Given the description of an element on the screen output the (x, y) to click on. 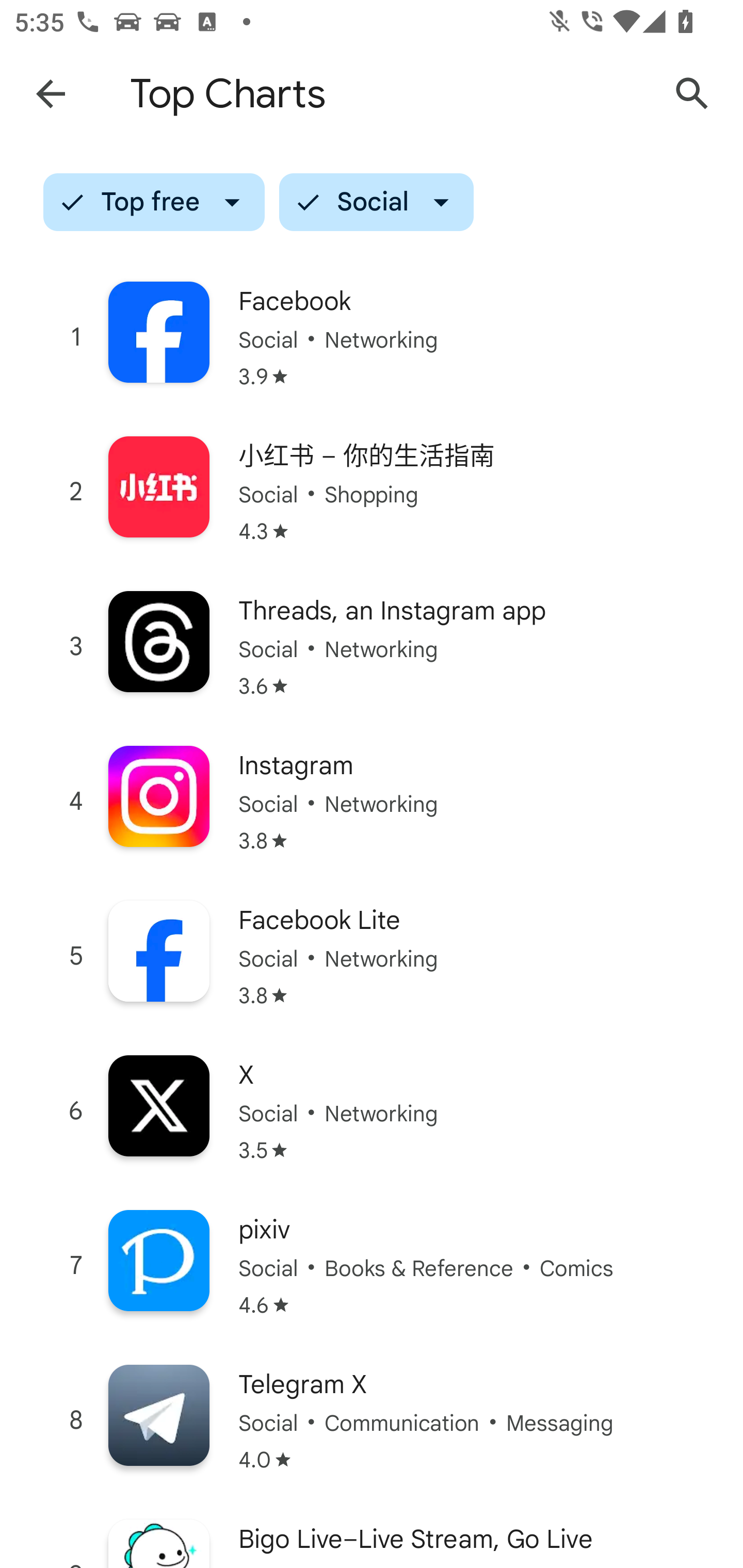
Navigate up (50, 93)
Search Google Play (692, 93)
1 Facebook
Social
Networking
Star rating: 3.9
 (371, 336)
2 小红书 – 你的生活指南
Social
Shopping
Star rating: 4.3
 (371, 491)
4 Instagram
Social
Networking
Star rating: 3.8
 (371, 801)
6 X
Social
Networking
Star rating: 3.5
 (371, 1110)
